Given the description of an element on the screen output the (x, y) to click on. 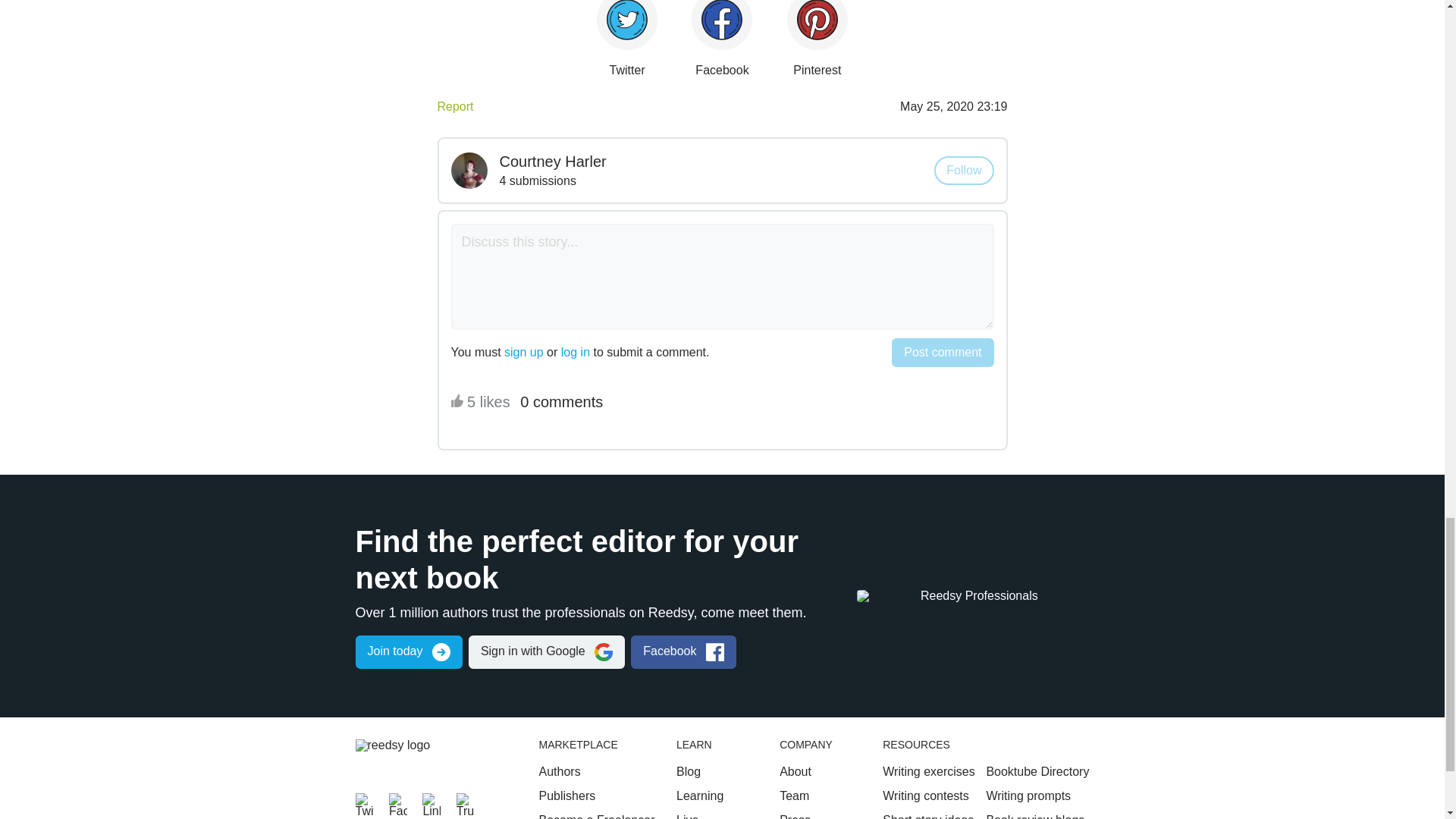
Twitter (363, 802)
Sign in with Google (546, 652)
Sign up (408, 652)
Facebook (397, 802)
LinkedIn (431, 802)
Trustpilot (465, 802)
Post comment (941, 352)
Sign in with Facebook (683, 652)
